Given the description of an element on the screen output the (x, y) to click on. 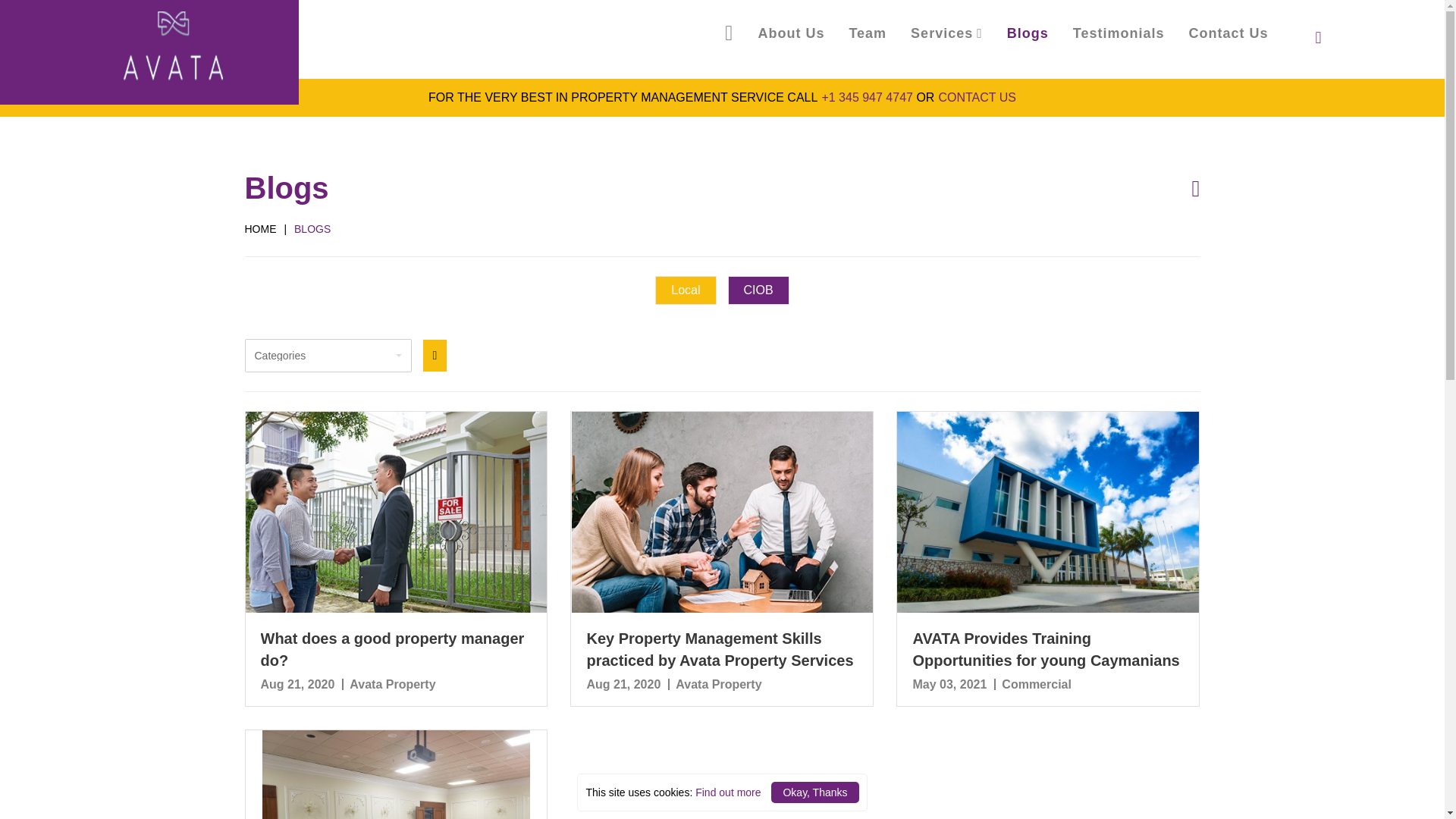
Services (946, 32)
Blogs (1027, 32)
CIOB (758, 375)
Contact Us (1228, 32)
Team (867, 32)
Local (685, 383)
Blogs (1027, 32)
Team (867, 32)
Avata PSL (172, 45)
CONTACT US (976, 103)
AVATA Provides Training Opportunities for young Caymanians (1045, 706)
Testimonials (1118, 32)
Testimonials (1118, 32)
What does a good property manager do? (392, 733)
